Given the description of an element on the screen output the (x, y) to click on. 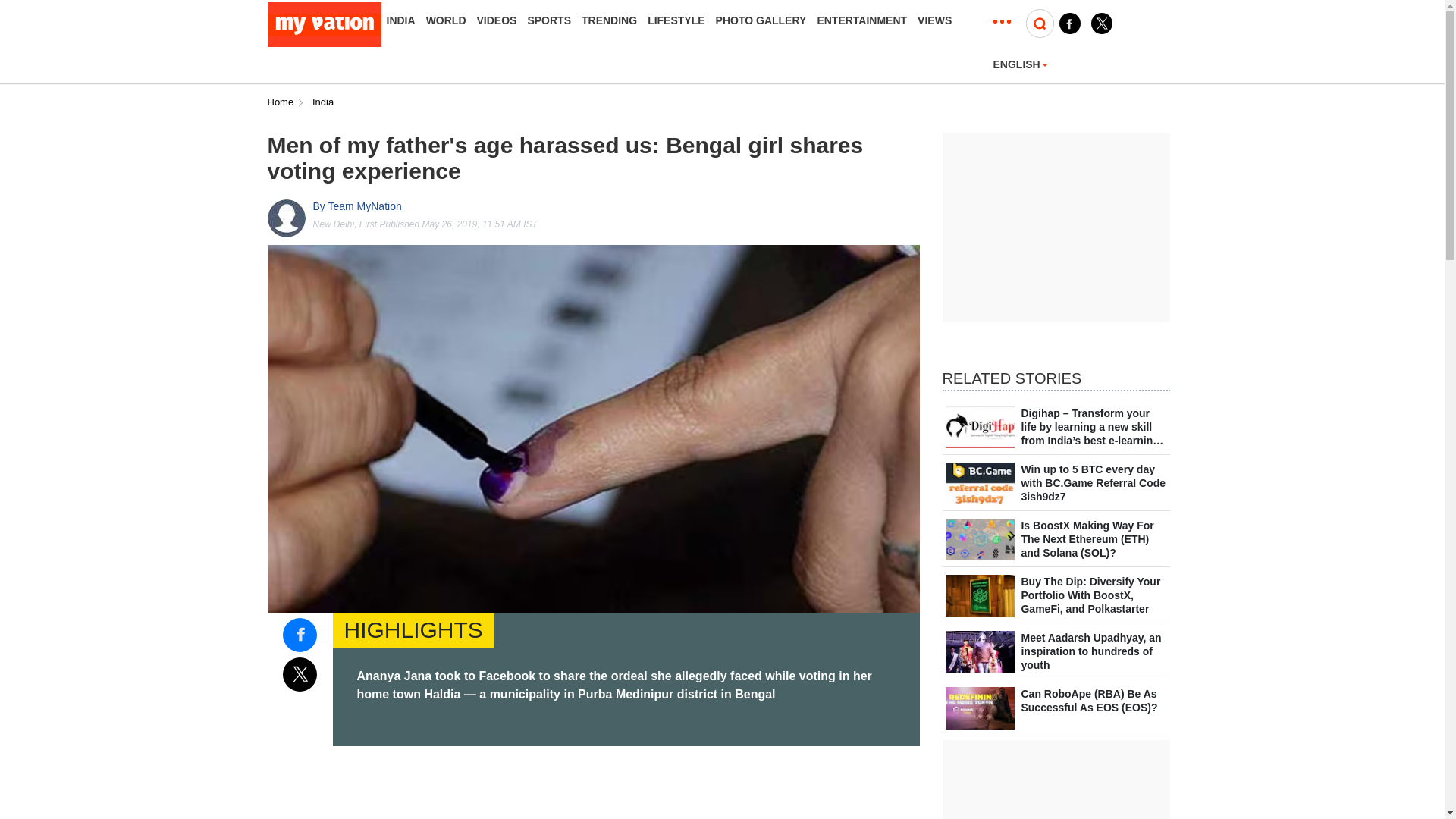
India (400, 20)
TRENDING (609, 20)
India (323, 102)
LIFESTYLE (676, 20)
Trending (609, 20)
Photo Gallery (761, 20)
VIDEOS (497, 20)
VIEWS (934, 20)
MyNation (323, 24)
Entertainment (861, 20)
